Given the description of an element on the screen output the (x, y) to click on. 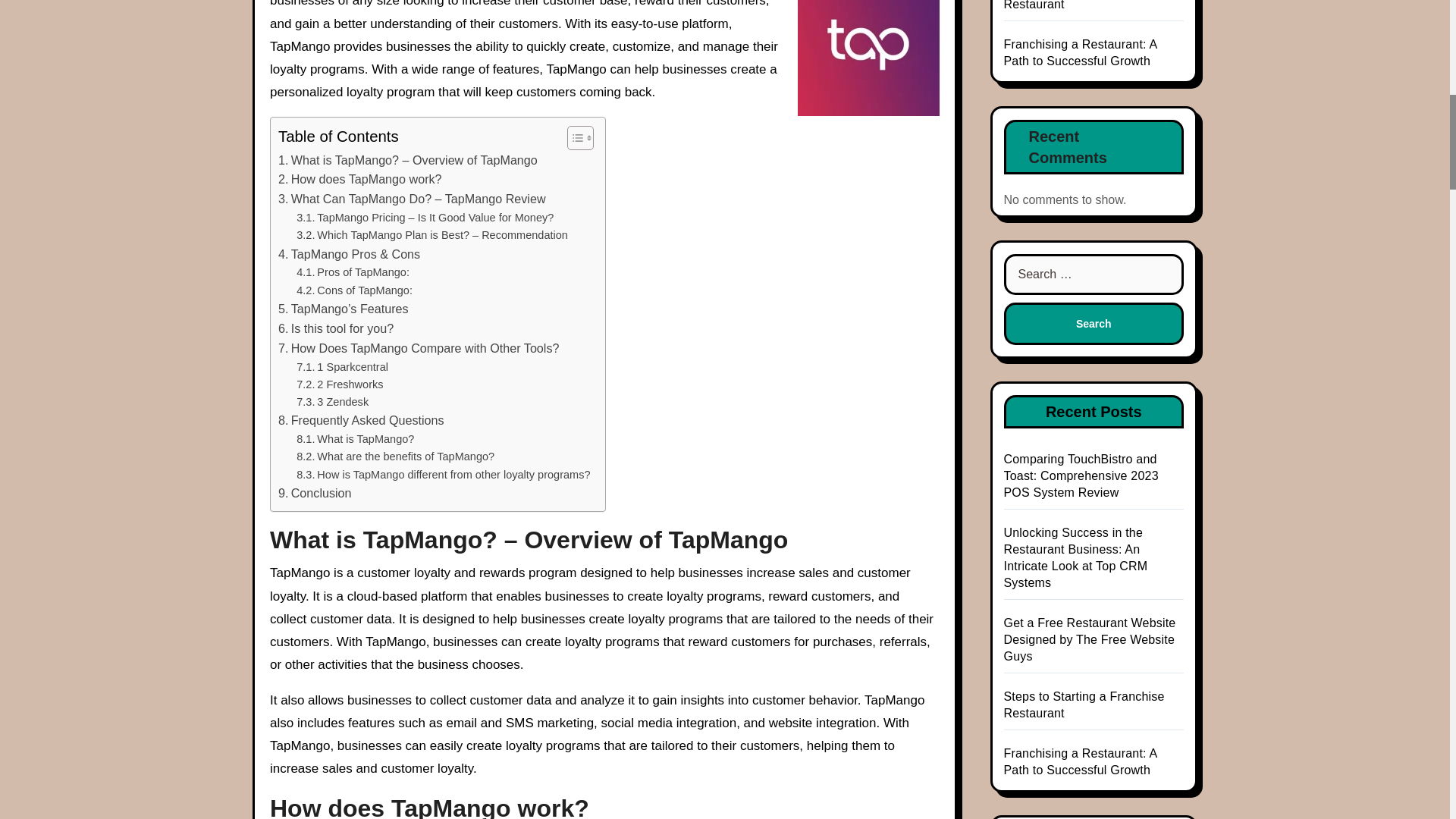
How does TapMango work? (360, 179)
Search (1094, 323)
Pros of TapMango: (353, 272)
Search (1094, 323)
How does TapMango work? (360, 179)
Cons of TapMango: (354, 290)
